Given the description of an element on the screen output the (x, y) to click on. 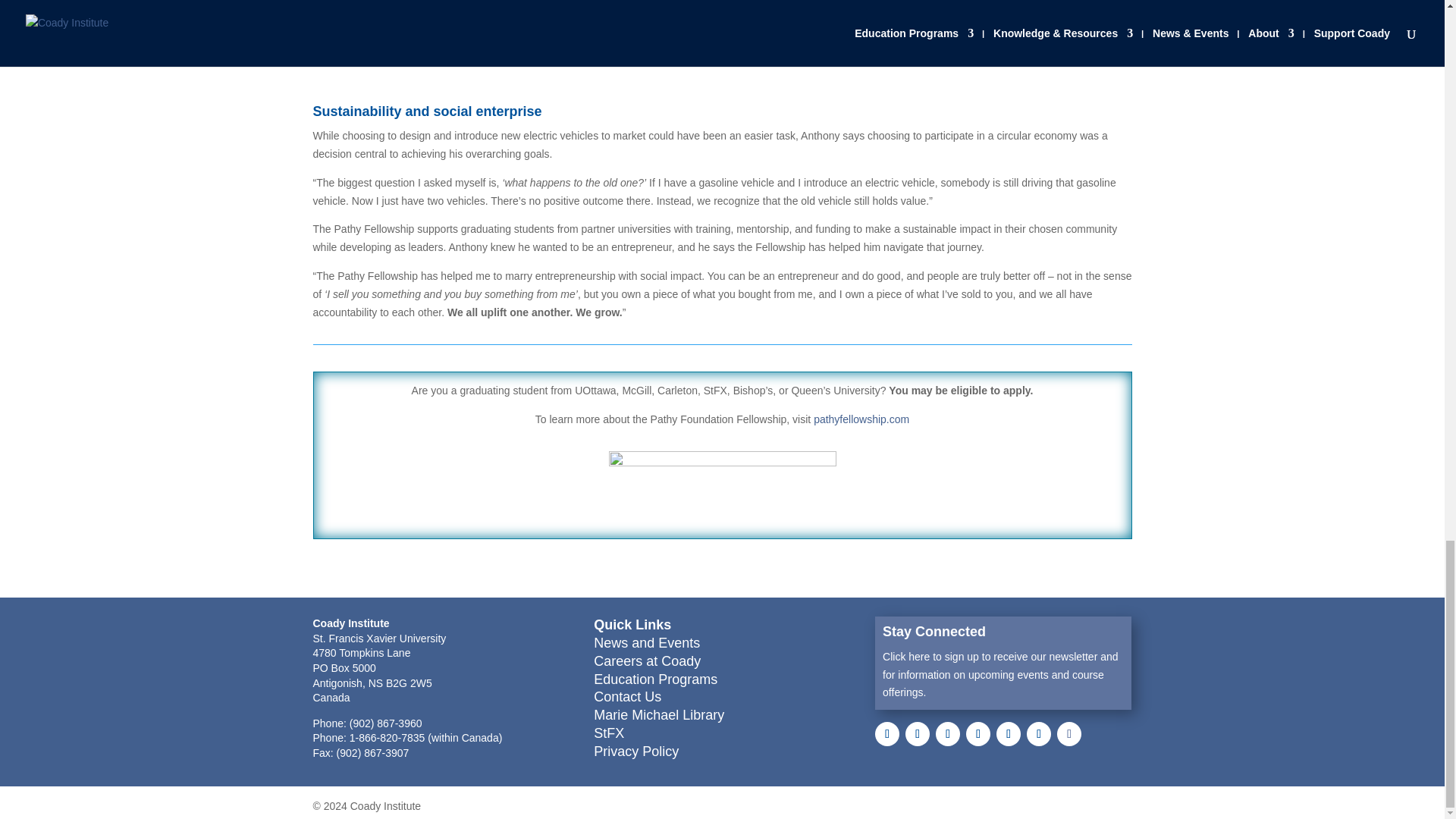
Follow on Flickr (1069, 733)
Entering Community Card Word Association - 3Q2A6086 sq (1009, 41)
Contact Us (627, 696)
Follow on Facebook (887, 733)
Follow on Instagram (947, 733)
StFX (609, 733)
Follow on Youtube (978, 733)
Privacy Policy (636, 751)
Follow on Twitter (917, 733)
Marie Michael Library (658, 714)
